Given the description of an element on the screen output the (x, y) to click on. 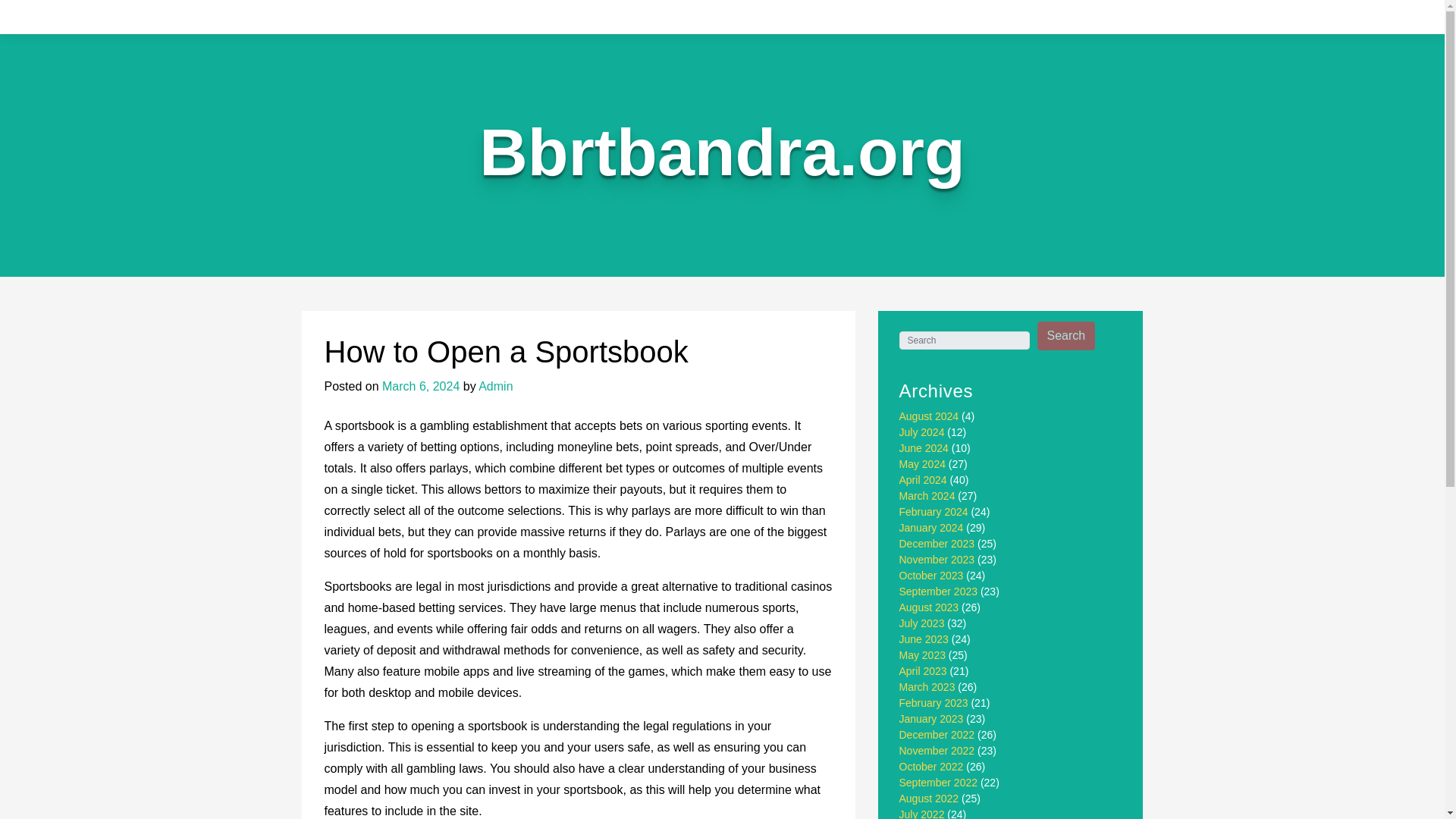
February 2023 (933, 702)
August 2024 (929, 416)
September 2023 (938, 591)
March 6, 2024 (420, 386)
October 2022 (931, 766)
March 2024 (927, 495)
May 2023 (921, 654)
October 2023 (931, 575)
June 2024 (924, 448)
April 2023 (923, 671)
January 2024 (931, 527)
December 2022 (937, 734)
July 2023 (921, 623)
November 2023 (937, 559)
July 2024 (921, 431)
